Given the description of an element on the screen output the (x, y) to click on. 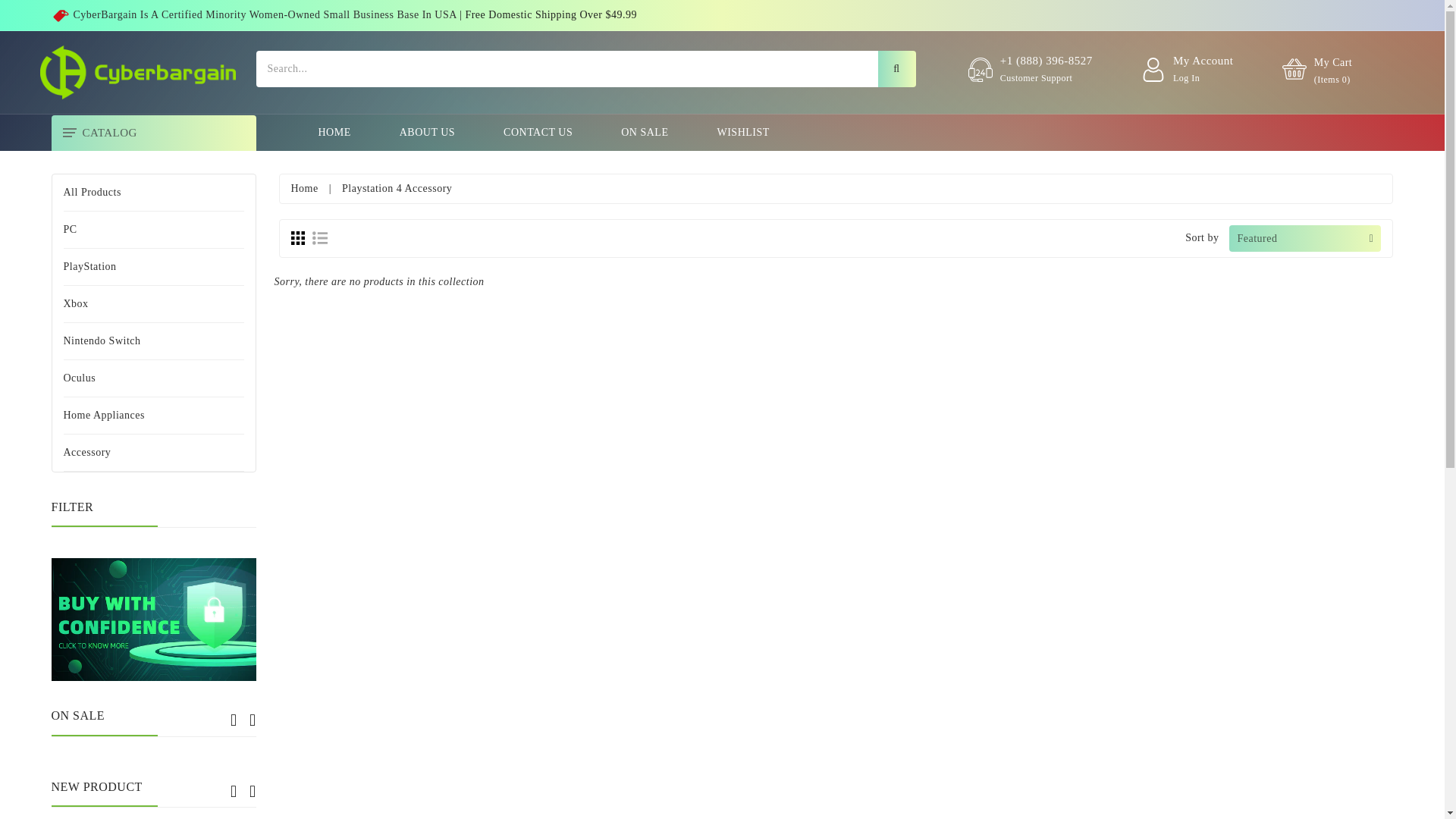
Back to the frontpage (304, 188)
